Given the description of an element on the screen output the (x, y) to click on. 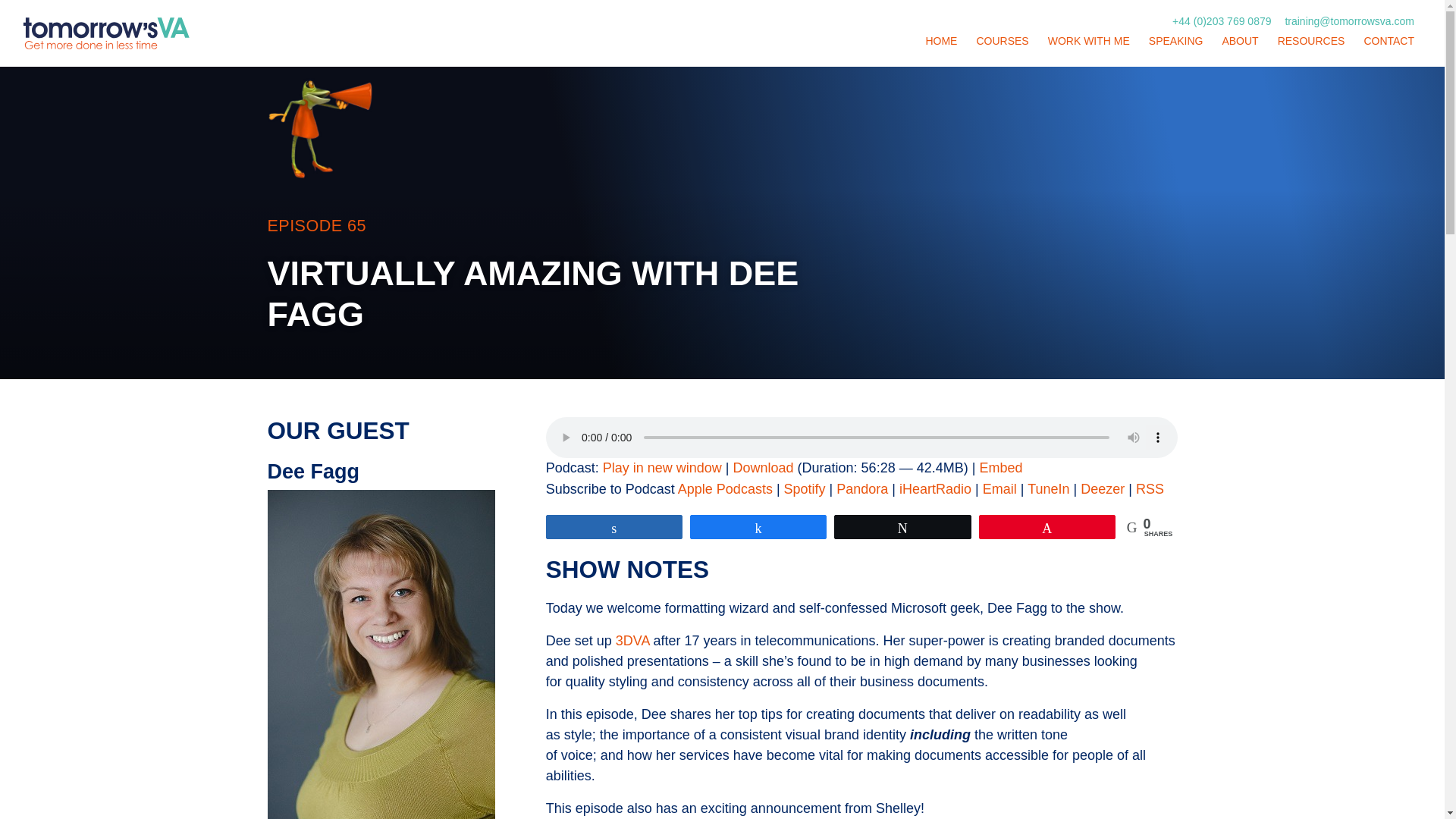
SPEAKING (1176, 40)
Spotify (804, 488)
Subscribe on Apple Podcasts (725, 488)
Embed (1000, 467)
Play in new window (662, 467)
Subscribe on Pandora (861, 488)
Embed (1000, 467)
Tomorrow's VA (68, 58)
Subscribe on iHeartRadio (935, 488)
CONTACT (1388, 40)
